Given the description of an element on the screen output the (x, y) to click on. 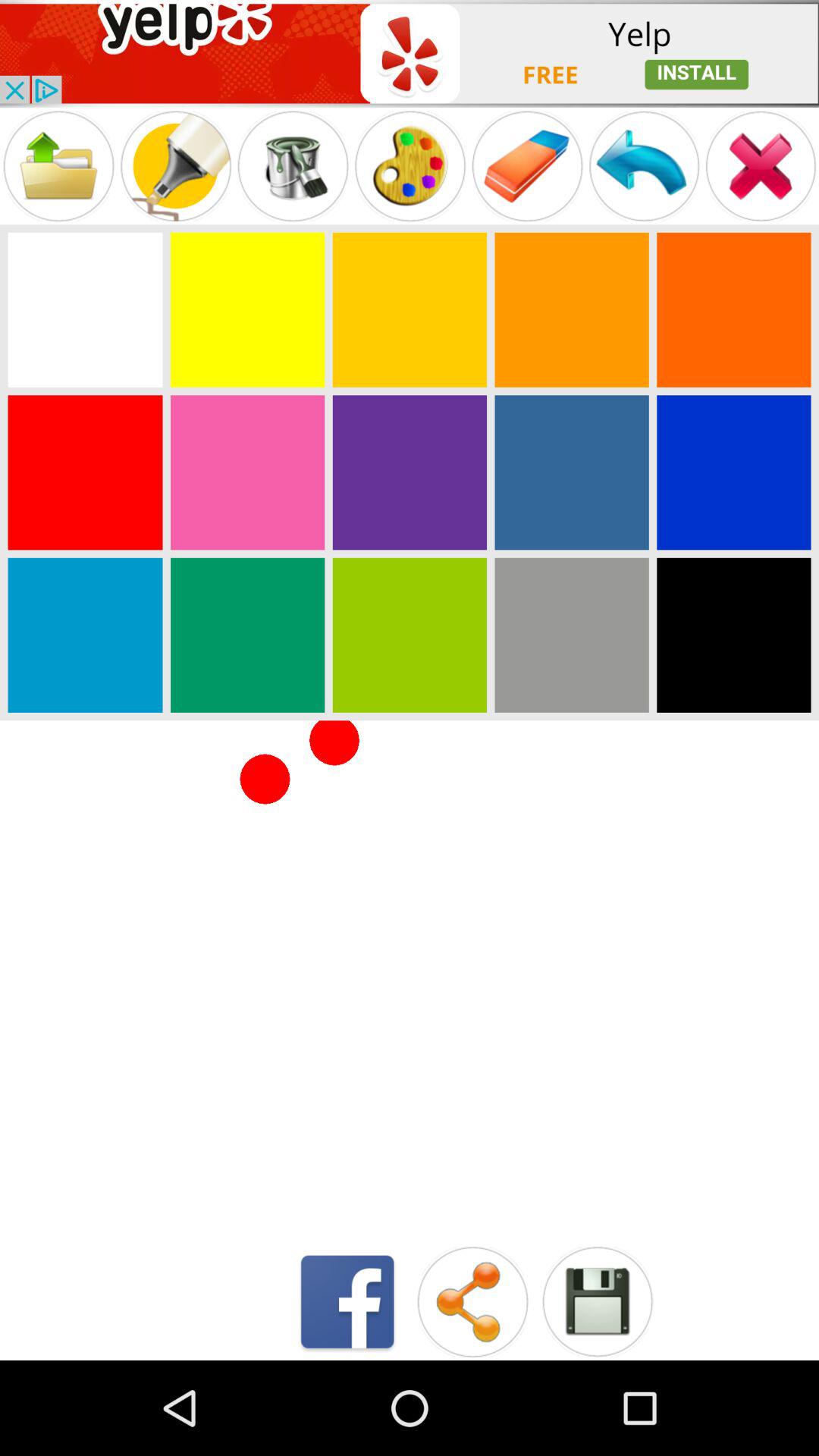
select color (247, 472)
